Given the description of an element on the screen output the (x, y) to click on. 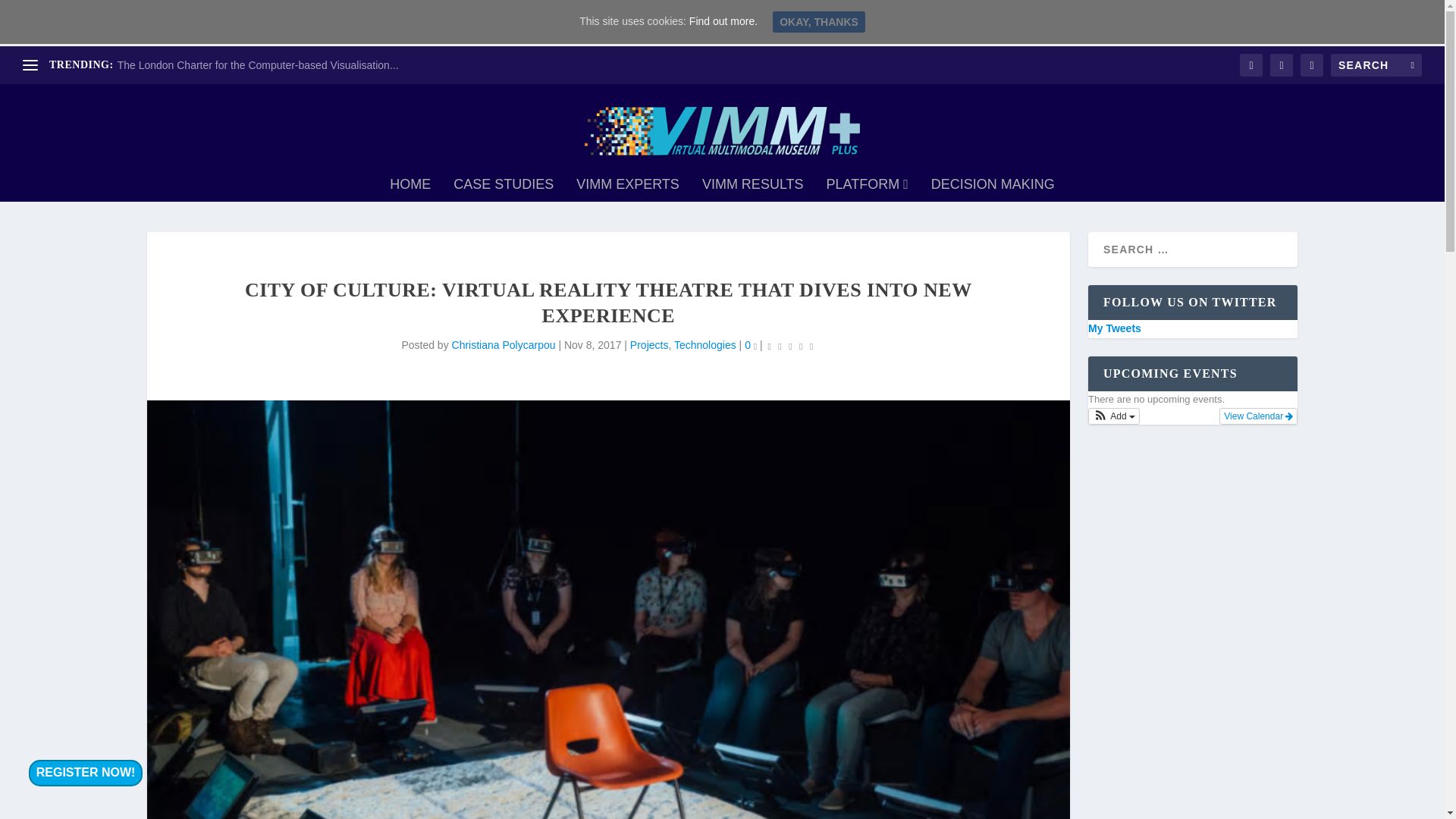
Search for: (1376, 65)
PLATFORM (867, 189)
DECISION MAKING (992, 189)
Technologies (705, 345)
HOME (410, 189)
Christiana Polycarpou (503, 345)
Rating: 0.00 (790, 345)
VIMM RESULTS (752, 189)
The London Charter for the Computer-based Visualisation... (257, 64)
Posts by Christiana Polycarpou (503, 345)
VIMM EXPERTS (627, 189)
Projects (649, 345)
CASE STUDIES (502, 189)
